Given the description of an element on the screen output the (x, y) to click on. 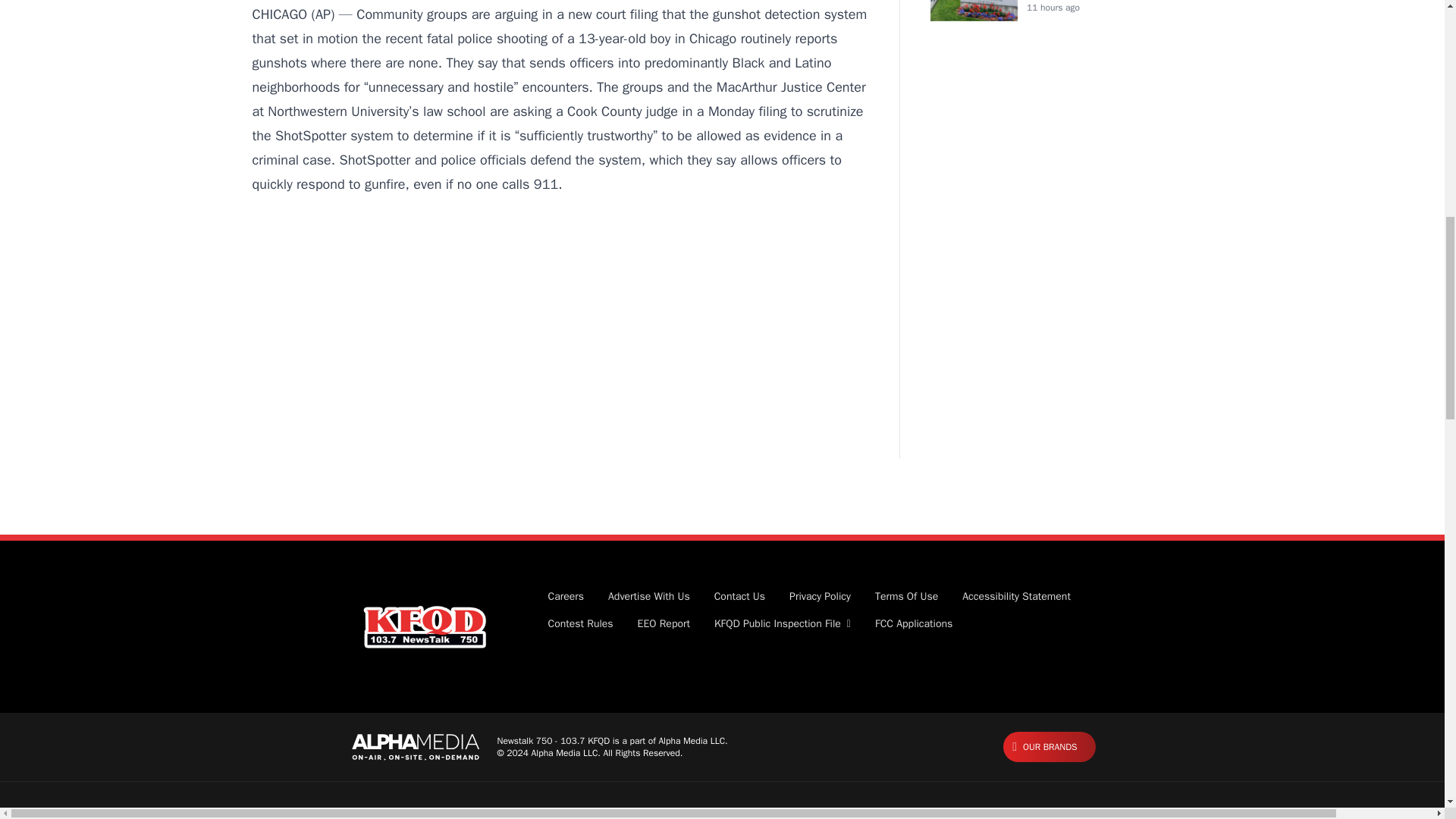
3rd party ad content (560, 363)
